Given the description of an element on the screen output the (x, y) to click on. 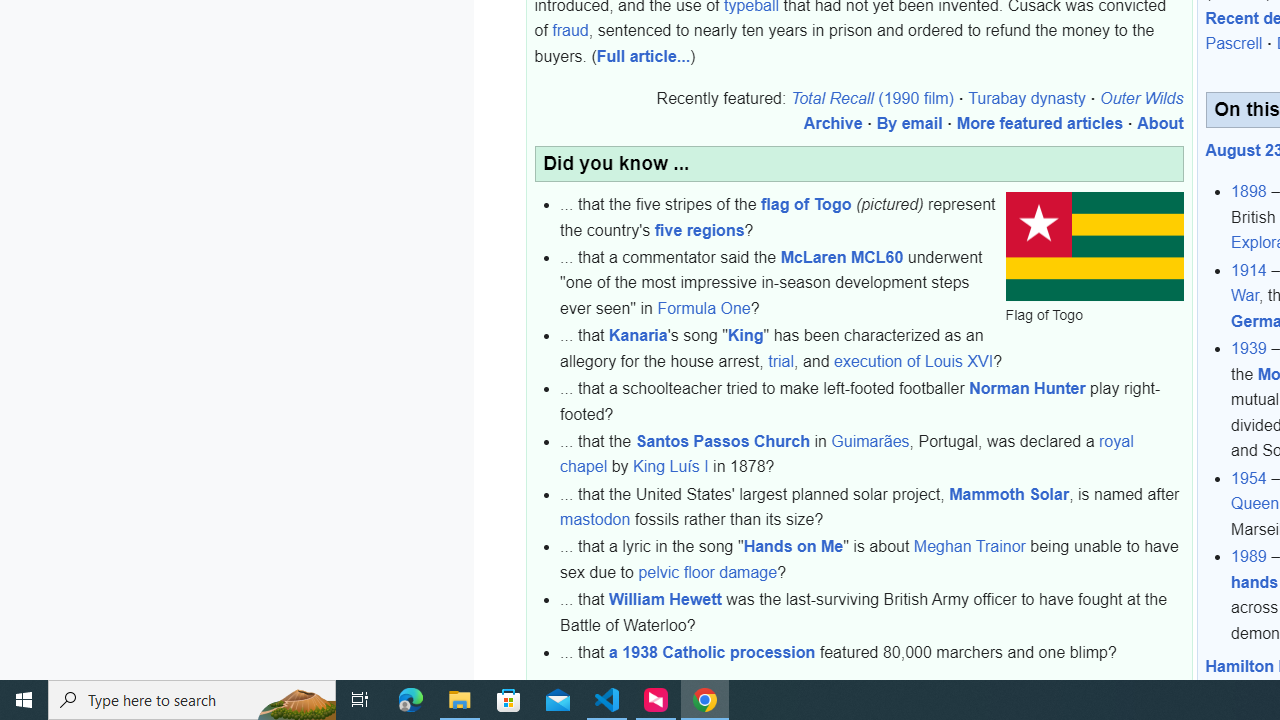
1898 (1249, 191)
fraud (569, 31)
trial (780, 361)
Hands on Me (792, 546)
By email (909, 124)
pelvic floor damage (707, 572)
Formula One (703, 309)
